Given the description of an element on the screen output the (x, y) to click on. 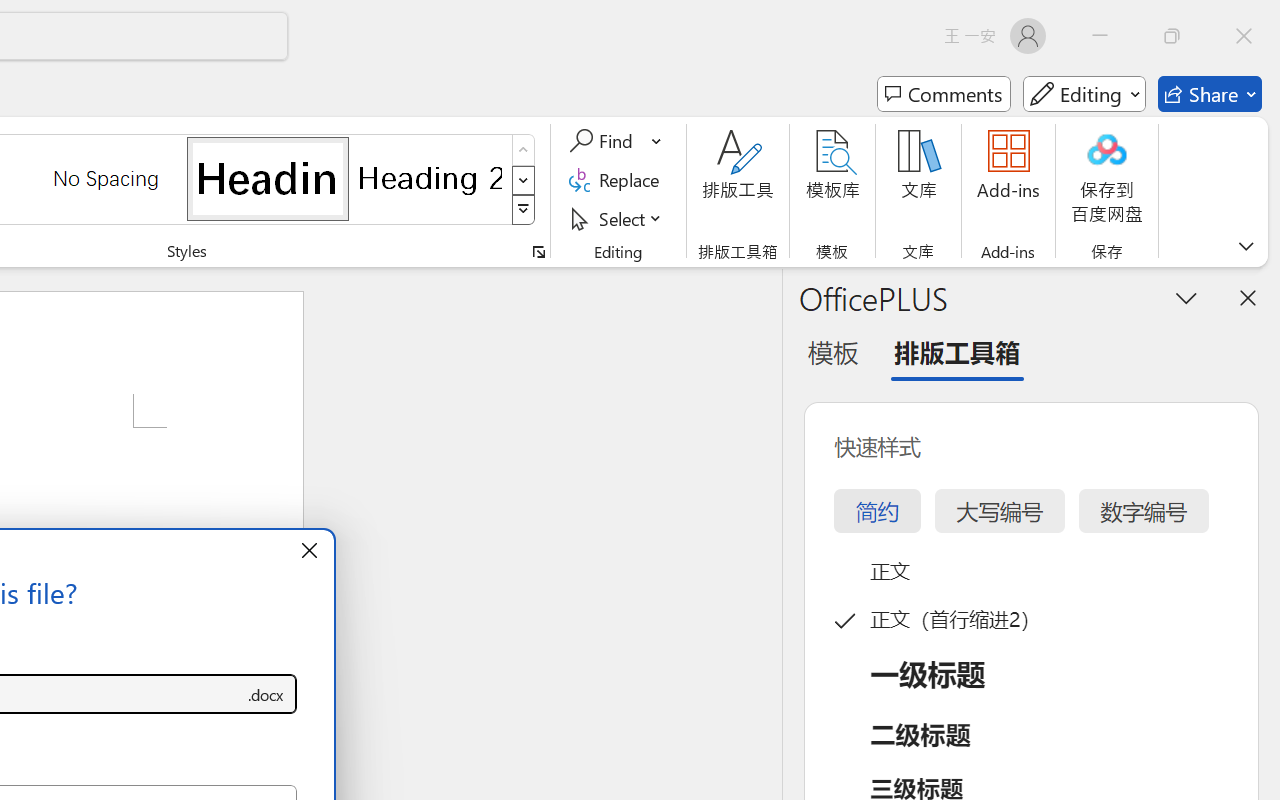
Save as type (265, 694)
